Given the description of an element on the screen output the (x, y) to click on. 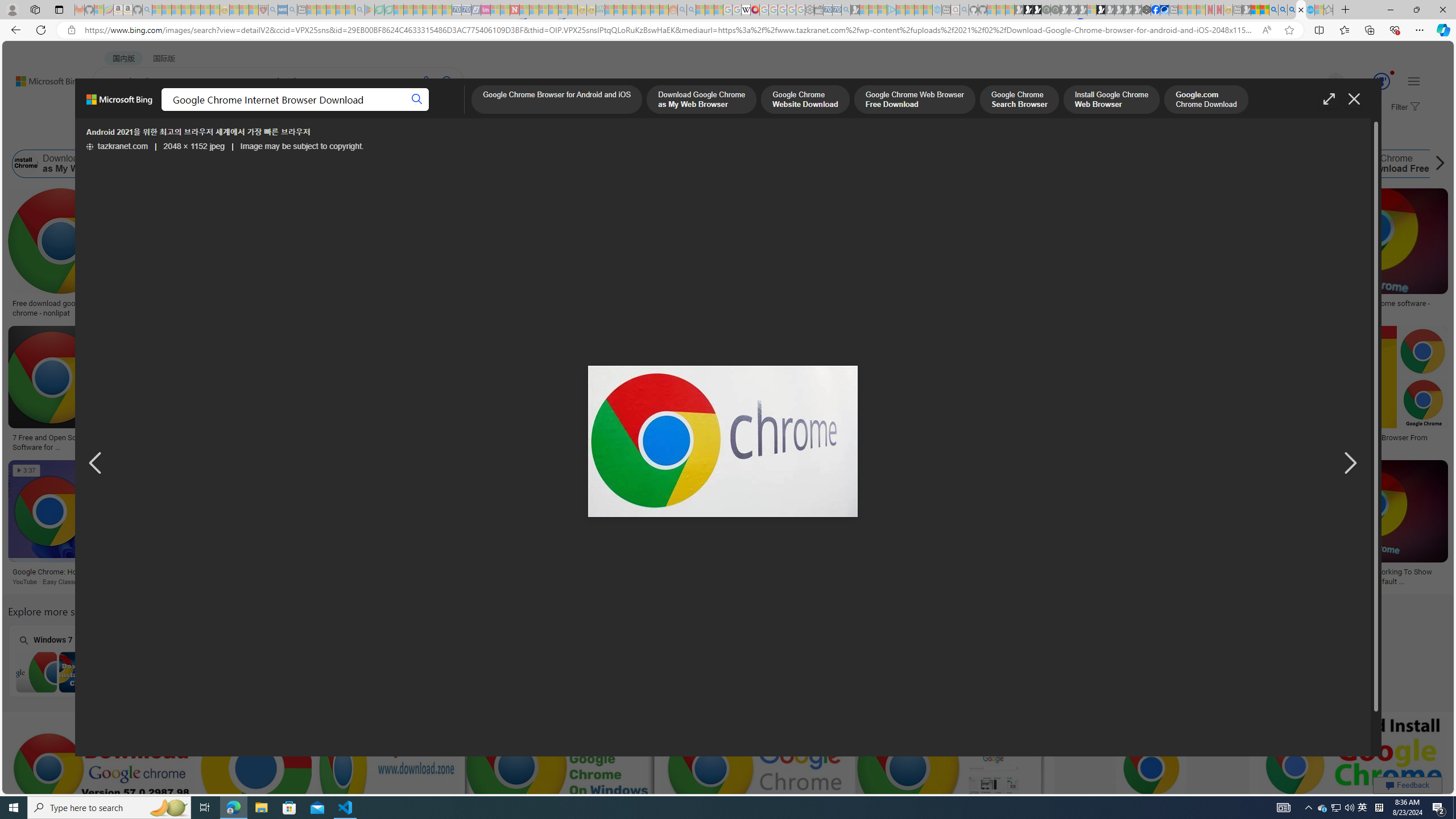
AutomationID: serp_medal_svg (1381, 81)
Install Google Chrome Web Browser (597, 163)
Settings and quick links (1413, 80)
Lambang Chrome (776, 571)
Full screen (1328, 99)
Install Google Chrome Web Browser (649, 163)
Google Chrome Website Download (227, 163)
Close image (1352, 99)
